Given the description of an element on the screen output the (x, y) to click on. 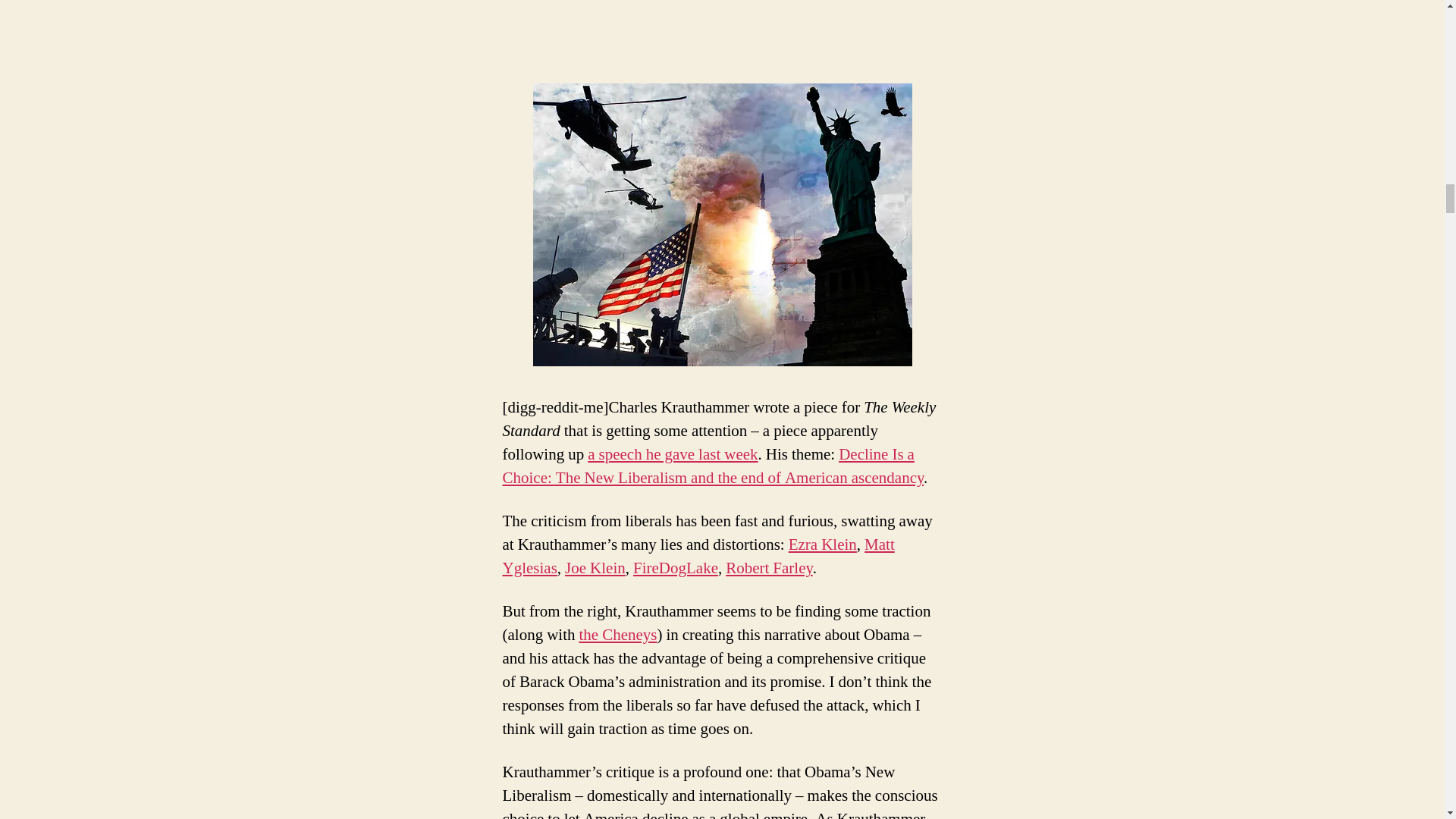
American Empire (721, 224)
